Given the description of an element on the screen output the (x, y) to click on. 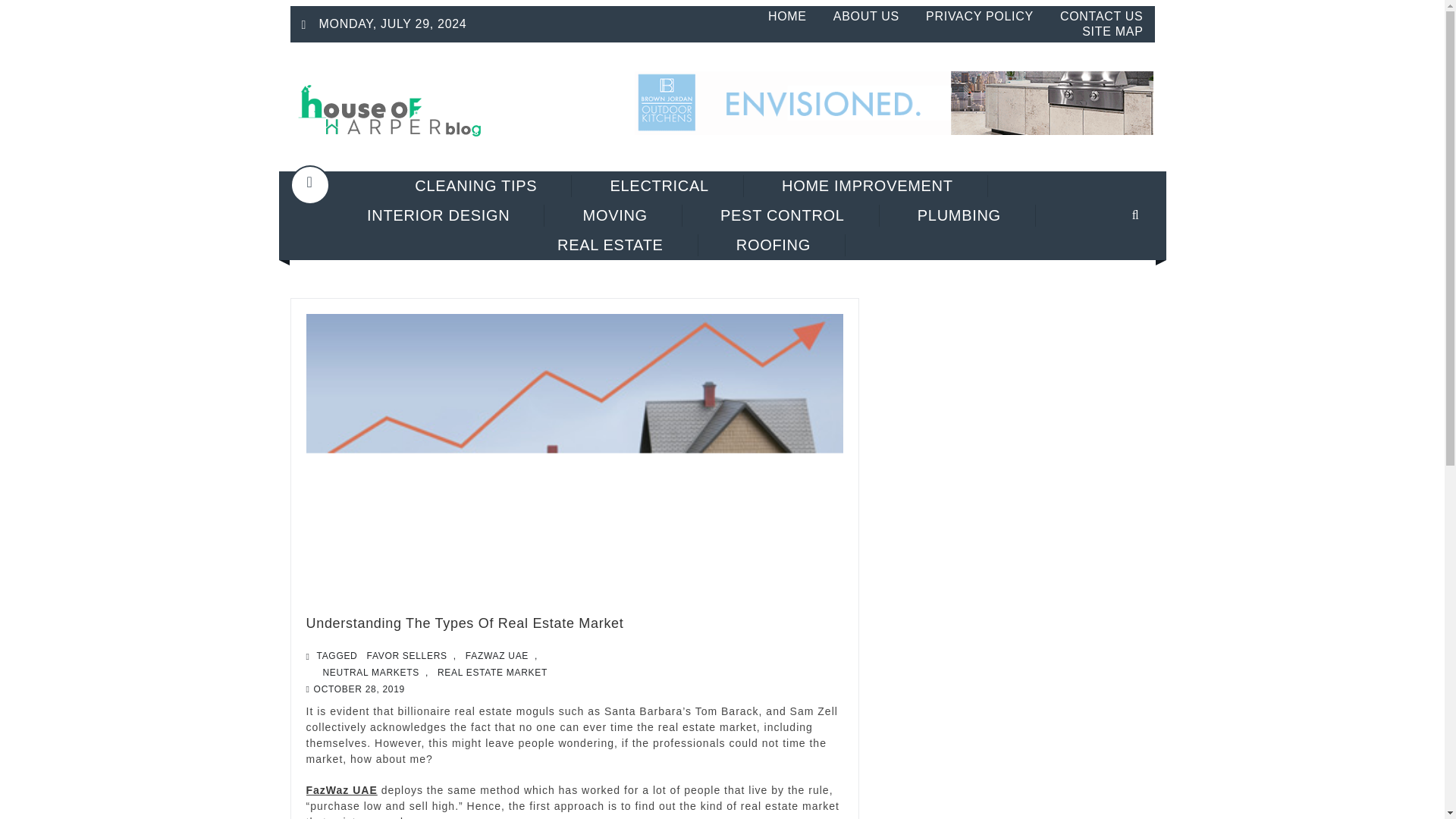
NEUTRAL MARKETS (371, 672)
REAL ESTATE (610, 245)
REAL ESTATE MARKET (491, 672)
FazWaz UAE (341, 789)
ABOUT US (865, 15)
SITE MAP (1111, 31)
ELECTRICAL (658, 186)
CONTACT US (1100, 15)
HOME (787, 15)
FAVOR SELLERS (406, 655)
CLEANING TIPS (476, 186)
Search (1116, 265)
PLUMBING (959, 215)
INTERIOR DESIGN (438, 215)
PEST CONTROL (782, 215)
